Given the description of an element on the screen output the (x, y) to click on. 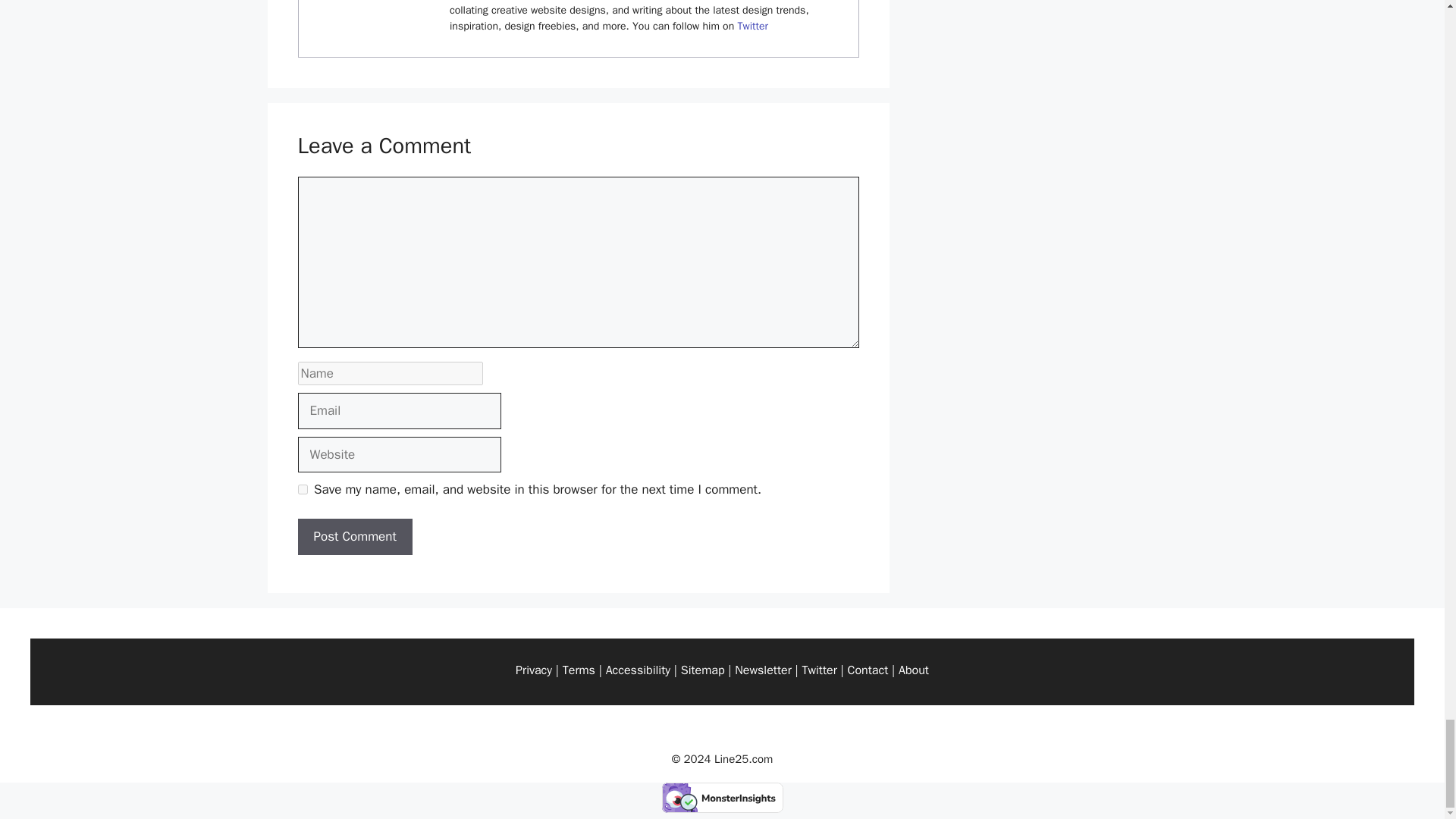
yes (302, 489)
Verified by MonsterInsights (722, 797)
Post Comment (354, 536)
